Given the description of an element on the screen output the (x, y) to click on. 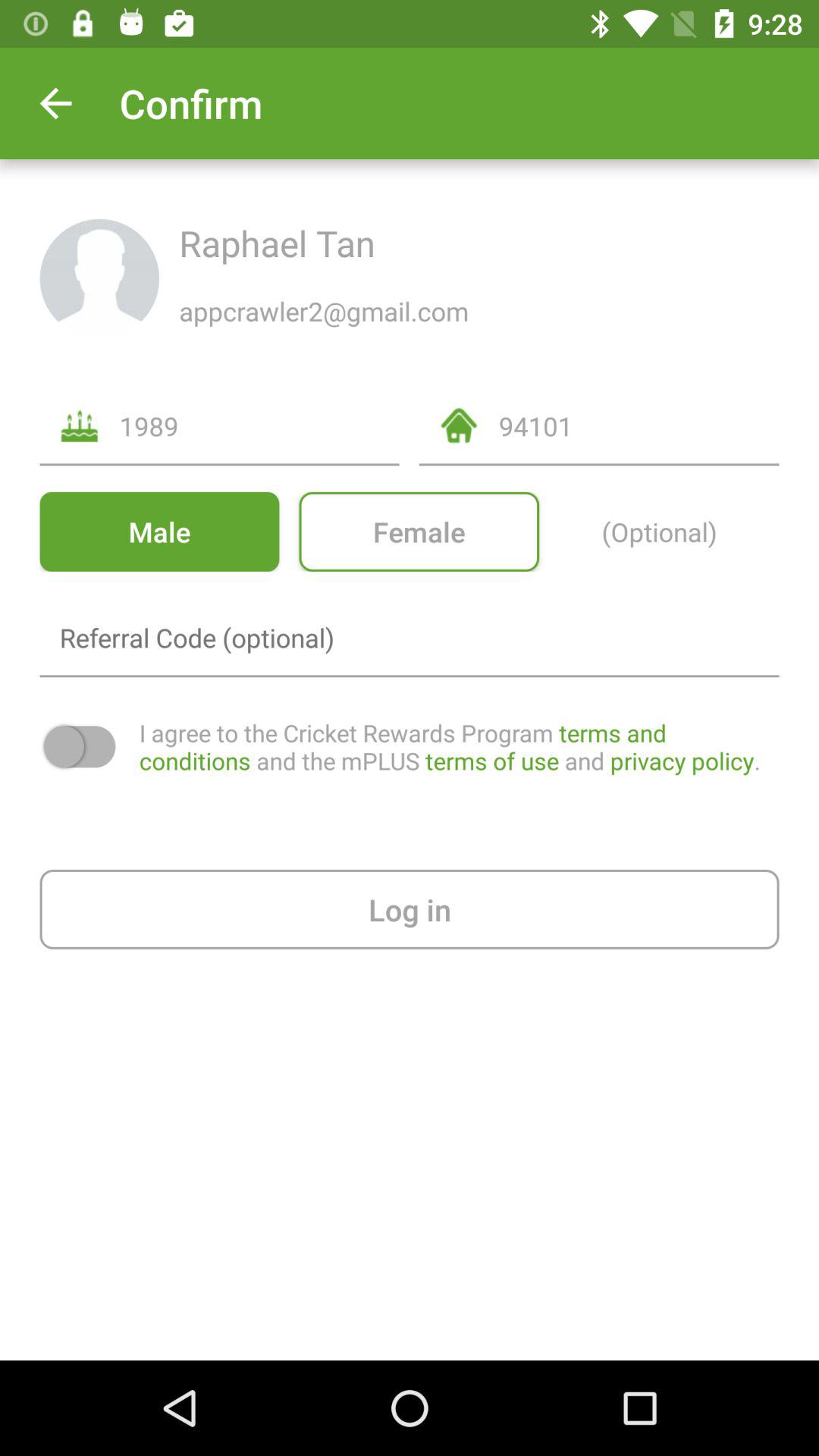
flip until i agree to (459, 746)
